Given the description of an element on the screen output the (x, y) to click on. 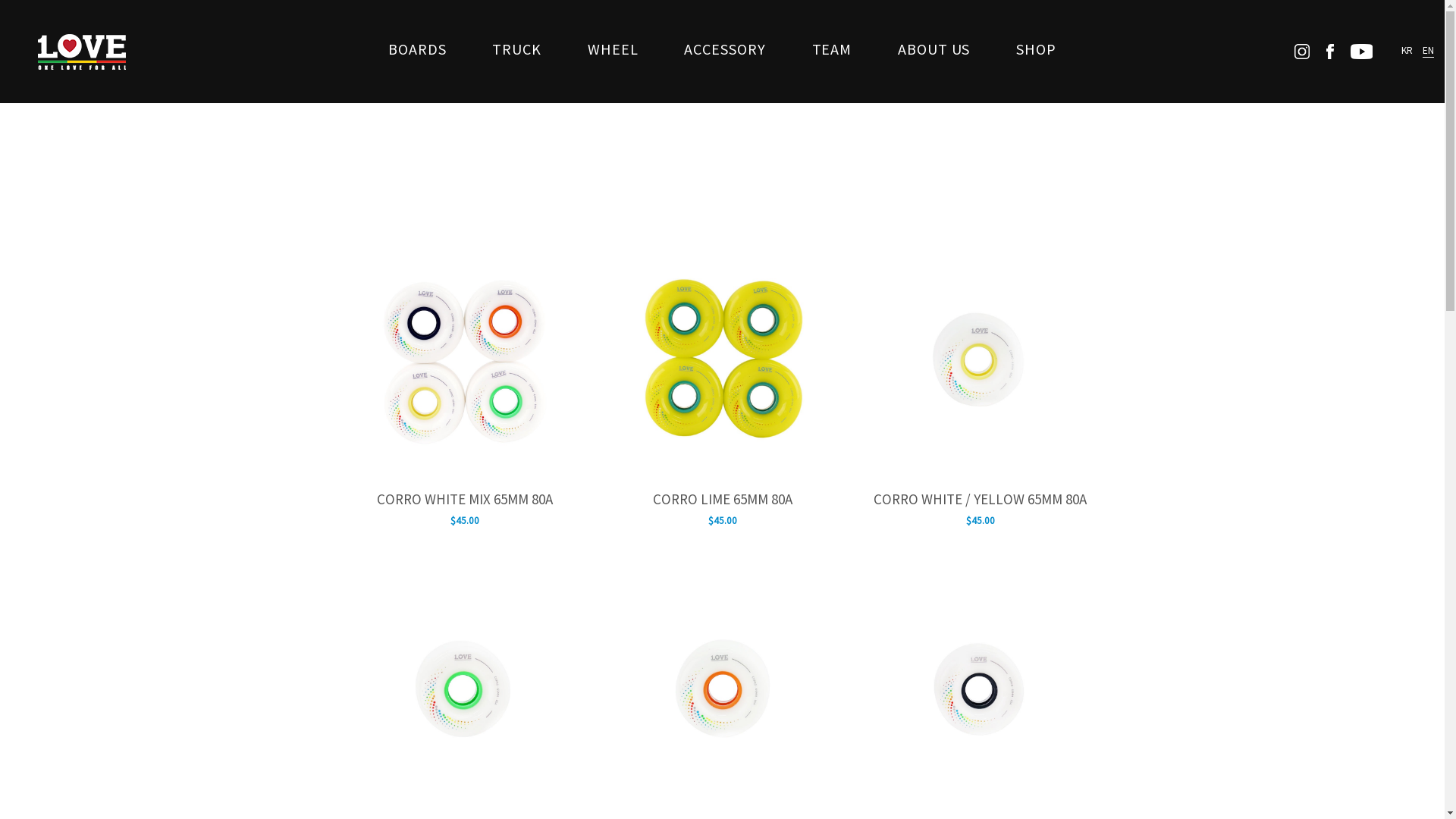
KR Element type: text (1406, 50)
1LOVEBOARDS Element type: hover (81, 51)
ACCESSORY Element type: text (724, 49)
CORRO LIME 65MM 80A Element type: text (721, 501)
CORRO WHITE MIX 65MM 80A Element type: text (464, 501)
TEAM Element type: text (832, 49)
BOARDS Element type: text (417, 49)
CORRO WHITE / YELLOW 65MM 80A Element type: text (979, 501)
ABOUT US Element type: text (933, 49)
TRUCK Element type: text (516, 49)
WHEEL Element type: text (612, 49)
SHOP Element type: text (1036, 49)
EN Element type: text (1428, 50)
